Given the description of an element on the screen output the (x, y) to click on. 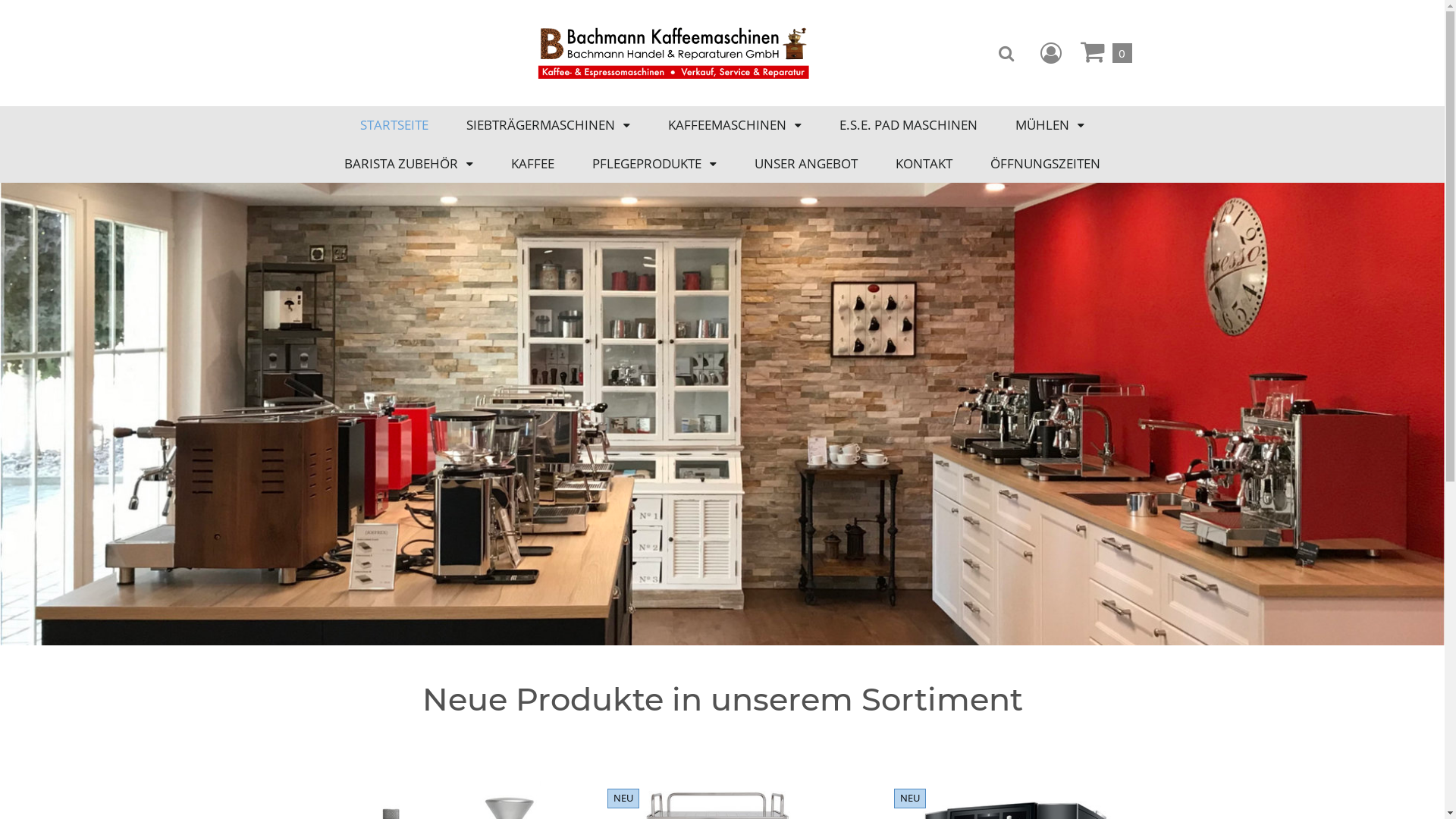
STARTSEITE Element type: text (394, 124)
KONTAKT Element type: text (923, 163)
E.S.E. PAD MASCHINEN Element type: text (908, 124)
Warenkorb anzeigen. Sie haben 0 Artikel im Warenkorb.
0 Element type: text (1105, 53)
KAFFEE Element type: text (532, 163)
KAFFEEMASCHINEN Element type: text (734, 124)
UNSER ANGEBOT Element type: text (805, 163)
PFLEGEPRODUKTE Element type: text (654, 163)
Bachmann Kaffeemaschinen Element type: hover (673, 52)
Suche Element type: text (1005, 52)
